Given the description of an element on the screen output the (x, y) to click on. 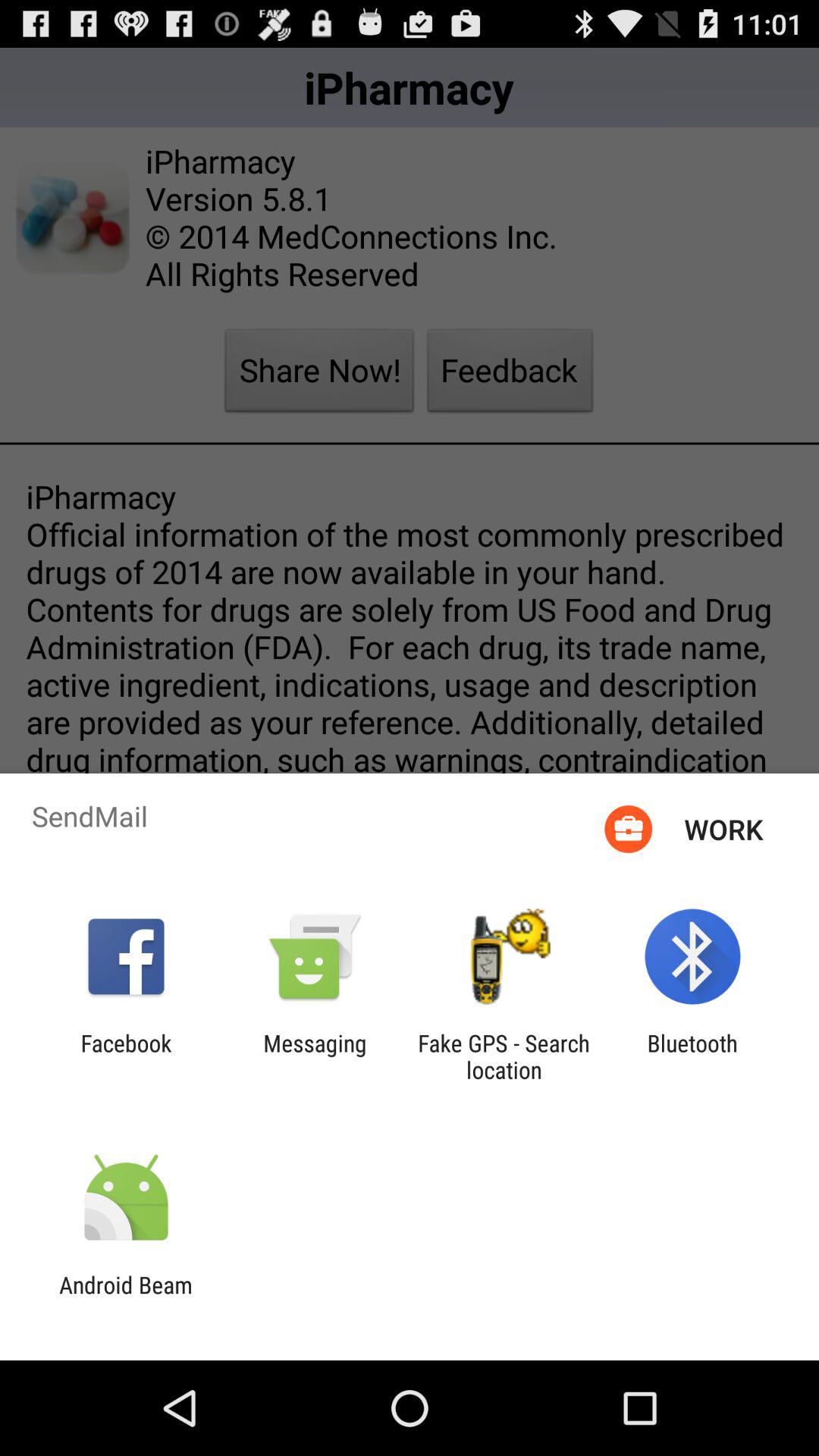
tap the fake gps search app (503, 1056)
